Given the description of an element on the screen output the (x, y) to click on. 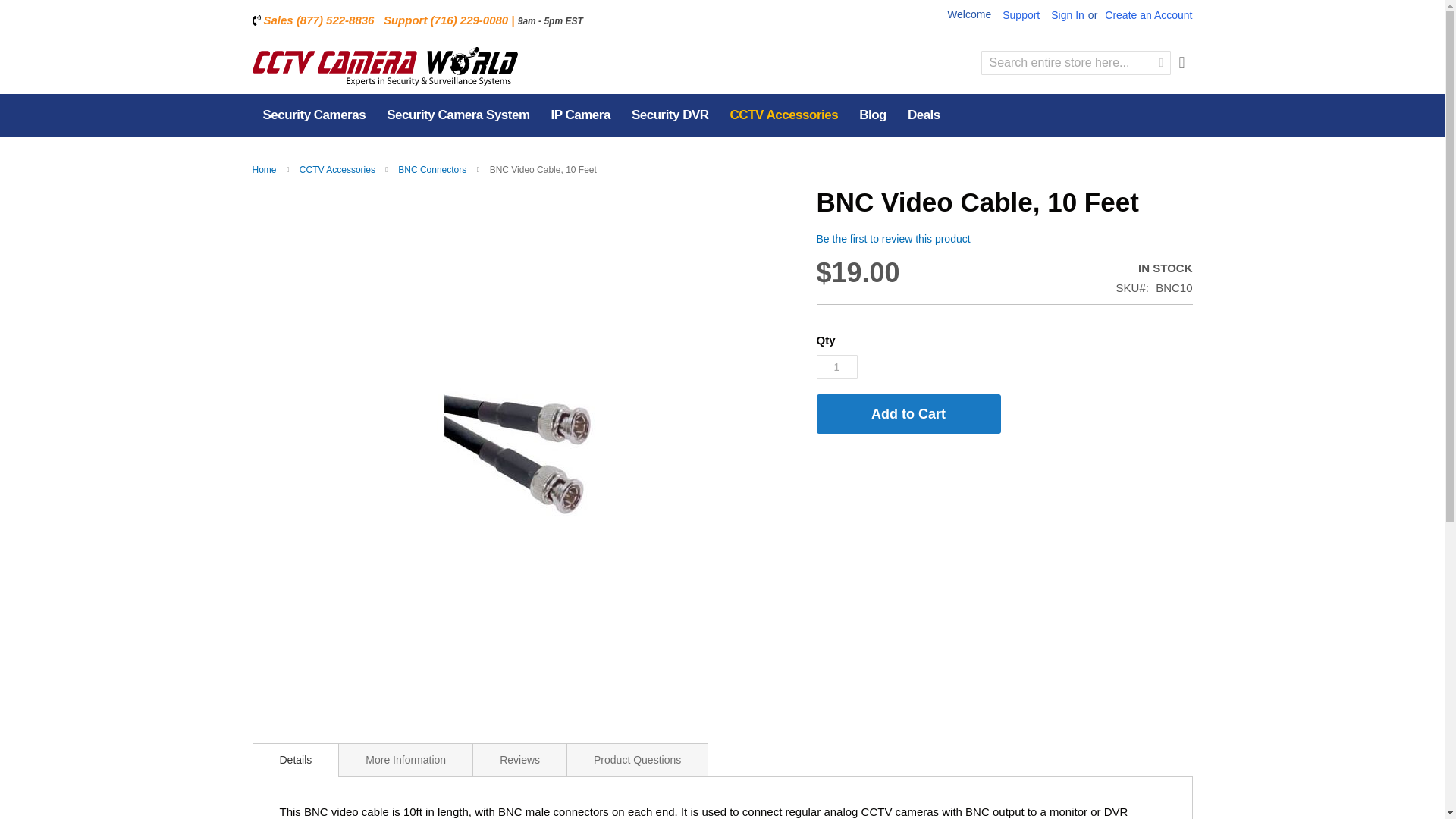
Support (1021, 16)
My Cart (1181, 62)
Search (1160, 62)
Call Sales or Technical Support (727, 19)
Create an Account (1148, 16)
Search (1160, 62)
Sign In (1067, 16)
1 (836, 366)
